Given the description of an element on the screen output the (x, y) to click on. 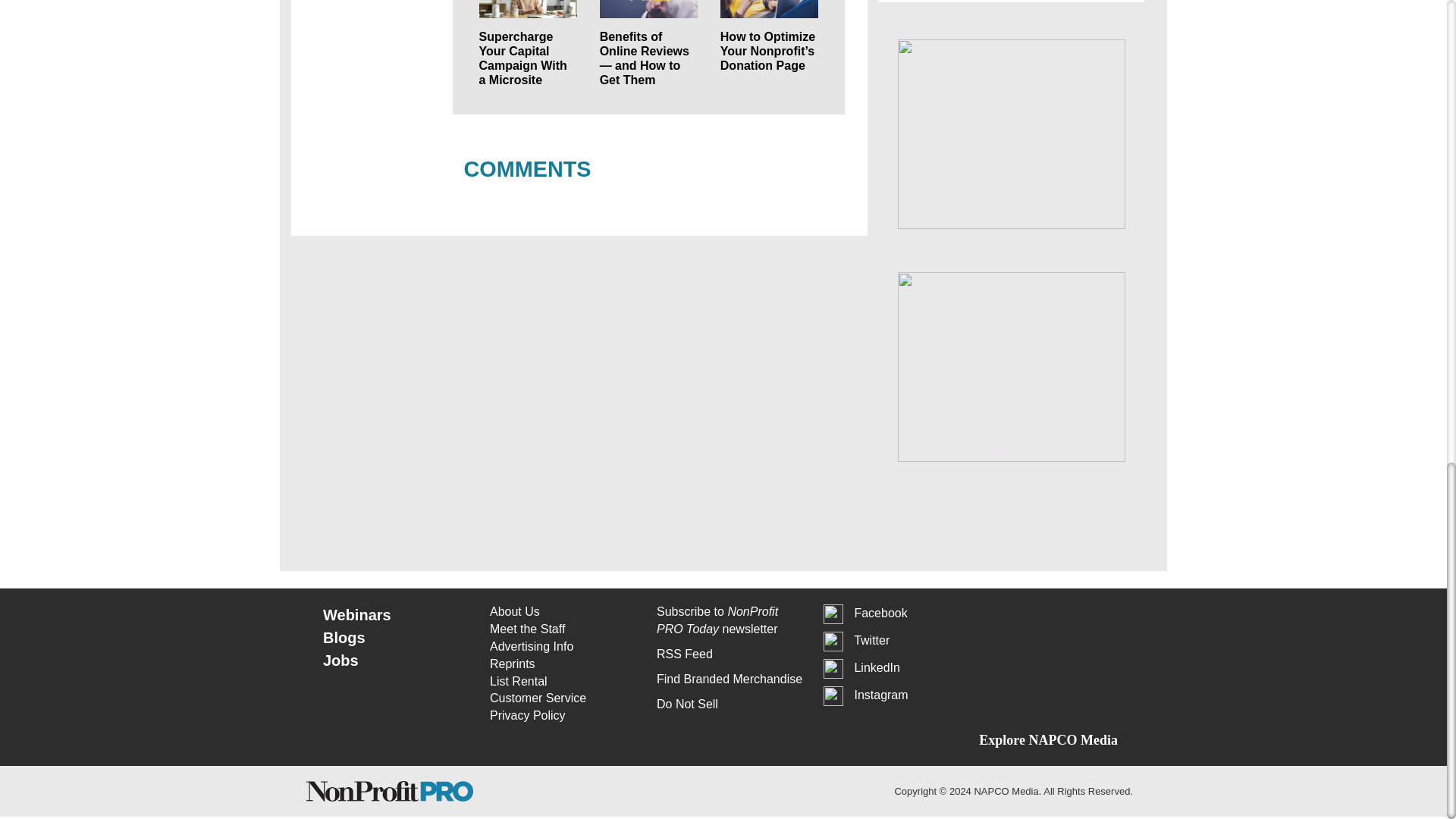
3rd party ad content (1011, 366)
3rd party ad content (1011, 134)
